Given the description of an element on the screen output the (x, y) to click on. 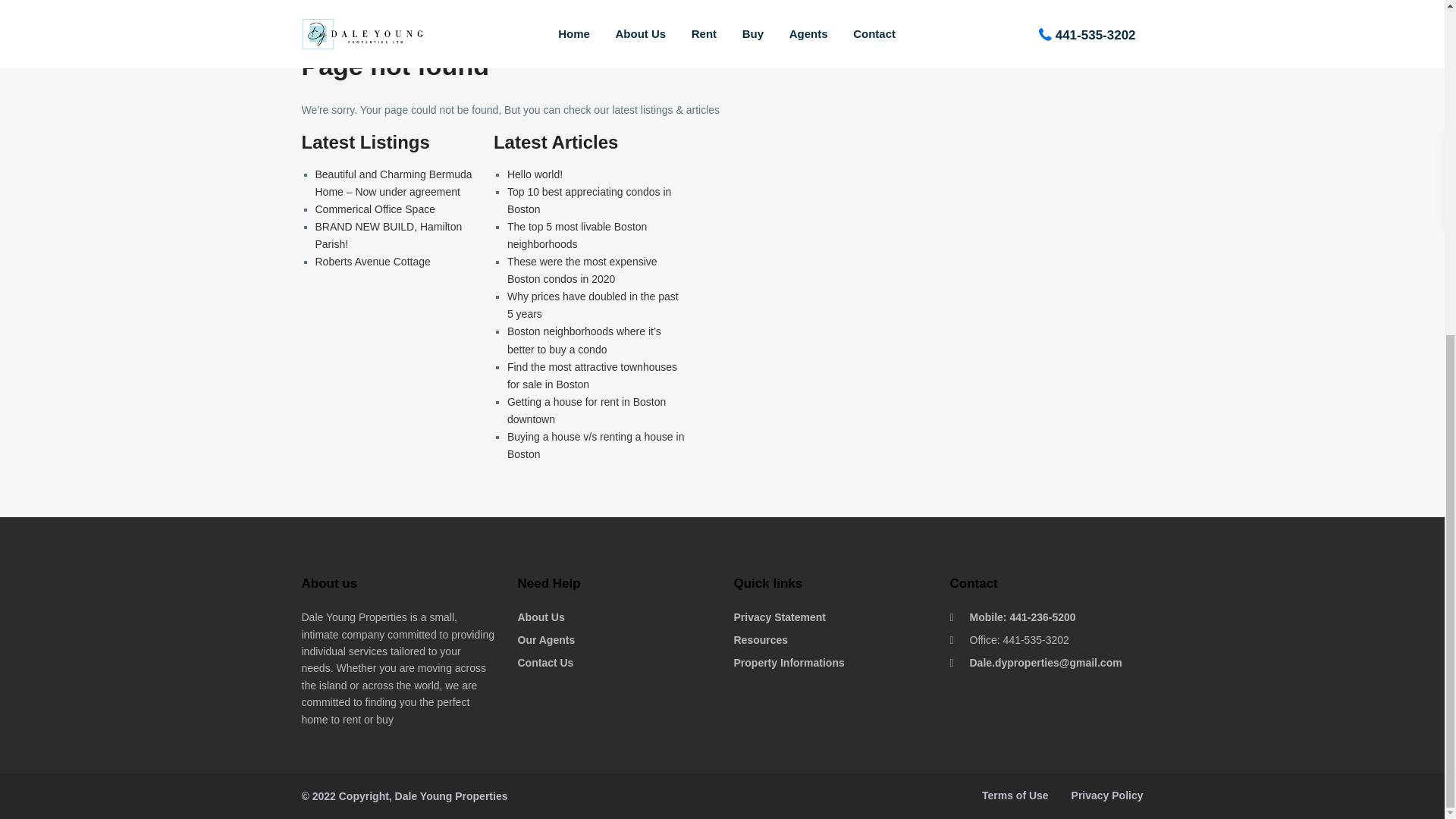
Roberts Avenue Cottage (372, 261)
Getting a house for rent in Boston downtown (585, 410)
Find the most attractive townhouses for sale in Boston (591, 375)
Commerical Office Space (375, 209)
These were the most expensive Boston condos in 2020 (582, 270)
Top 10 best appreciating condos in Boston (588, 200)
Why prices have doubled in the past 5 years (592, 305)
The top 5 most livable Boston neighborhoods (576, 235)
BRAND NEW BUILD, Hamilton Parish! (389, 235)
Hello world! (534, 174)
